Given the description of an element on the screen output the (x, y) to click on. 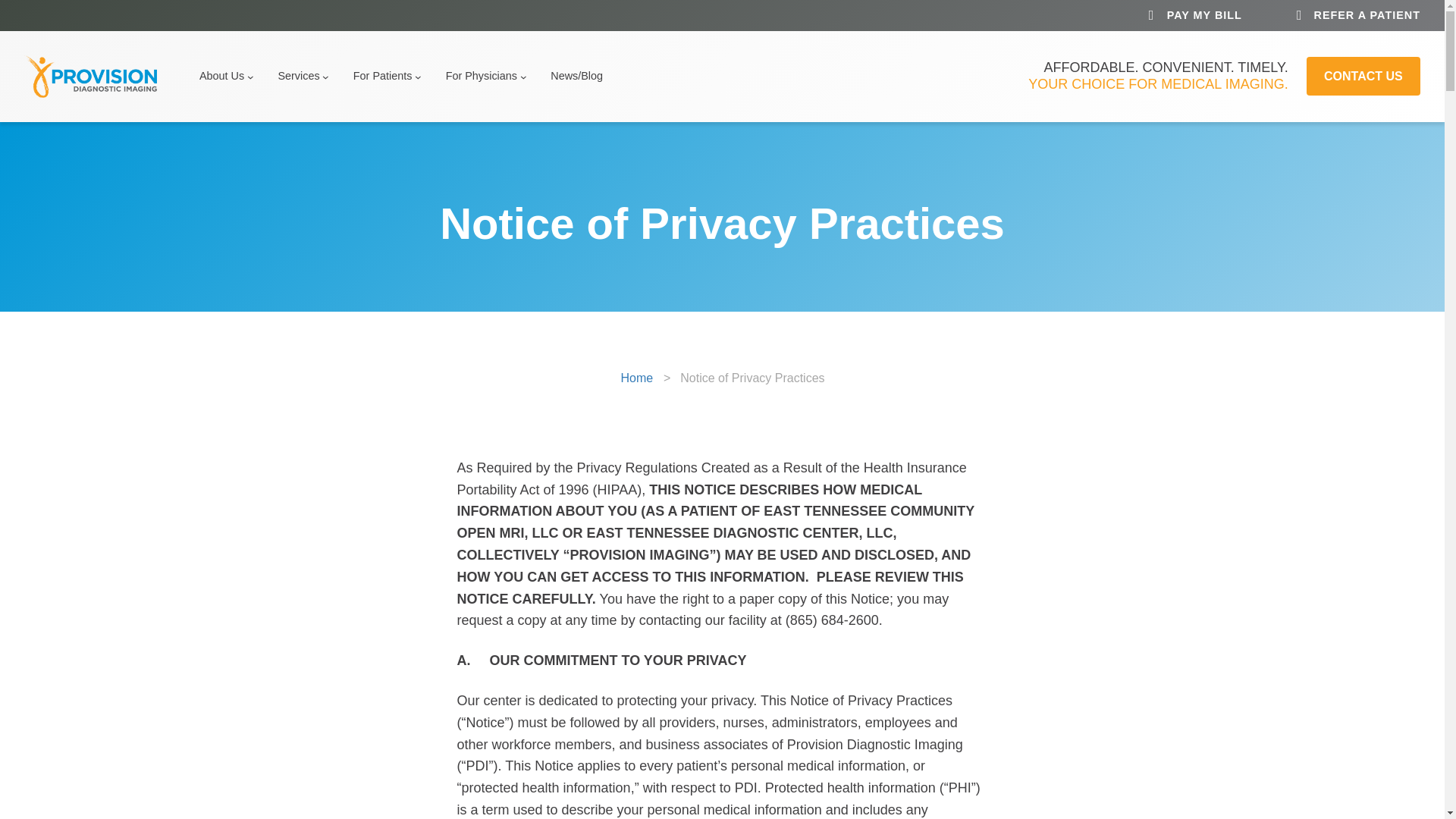
Notice of Privacy Practices (751, 377)
Services (298, 76)
CONTACT US (1363, 75)
For Patients (382, 76)
PAY MY BILL (1204, 15)
REFER A PATIENT (1367, 15)
About Us (221, 76)
For Physicians (480, 76)
